Given the description of an element on the screen output the (x, y) to click on. 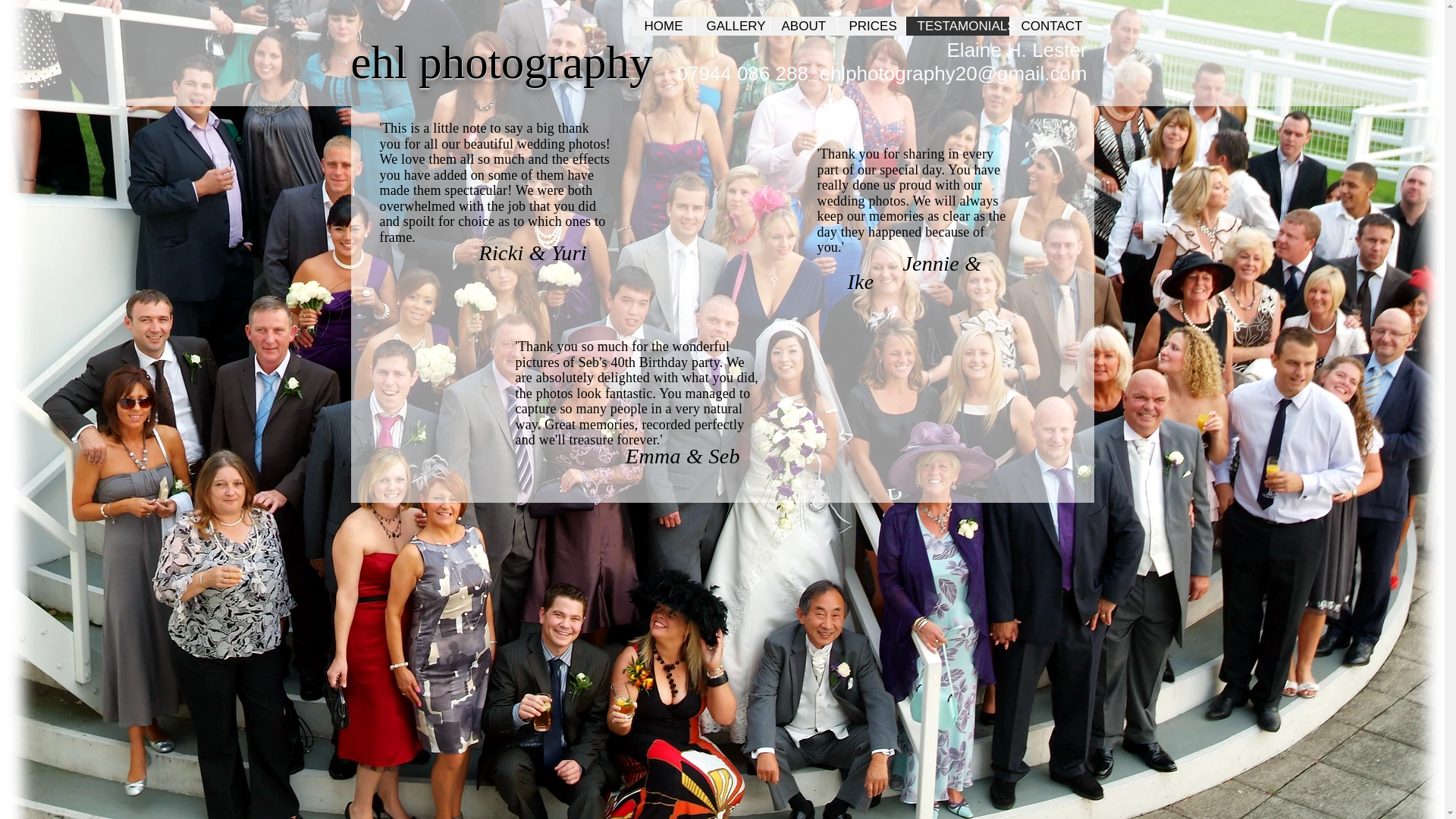
HOME (662, 26)
GALLERY (732, 26)
PRICES (871, 26)
ehl photography (501, 61)
TESTAMONIALS (957, 26)
ABOUT (801, 26)
CONTACT (1047, 26)
